Given the description of an element on the screen output the (x, y) to click on. 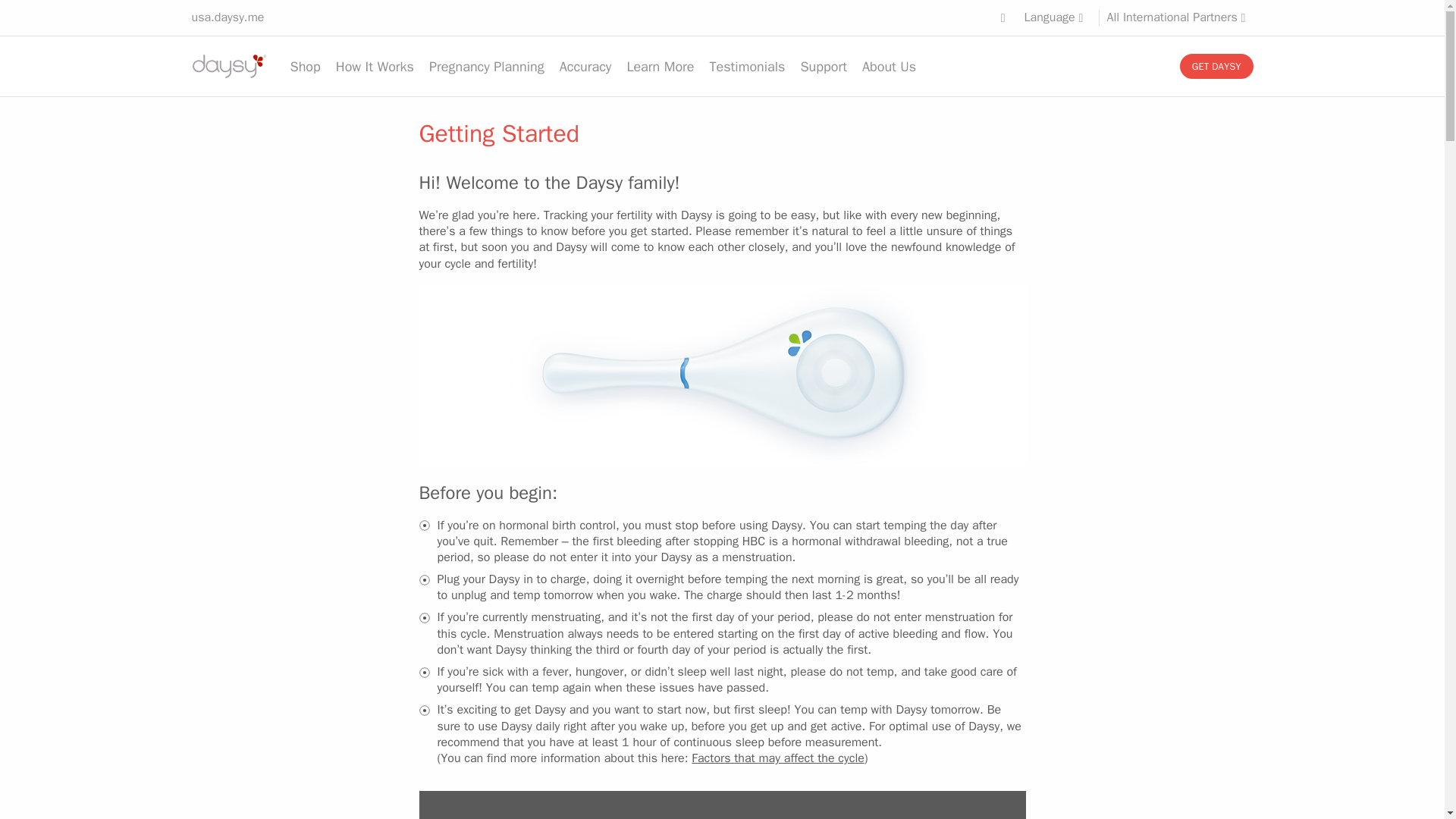
Shop (304, 66)
All International Partners (1179, 17)
Learn More (660, 66)
Accuracy (585, 66)
How It Works (374, 66)
Pregnancy Planning (486, 66)
